Given the description of an element on the screen output the (x, y) to click on. 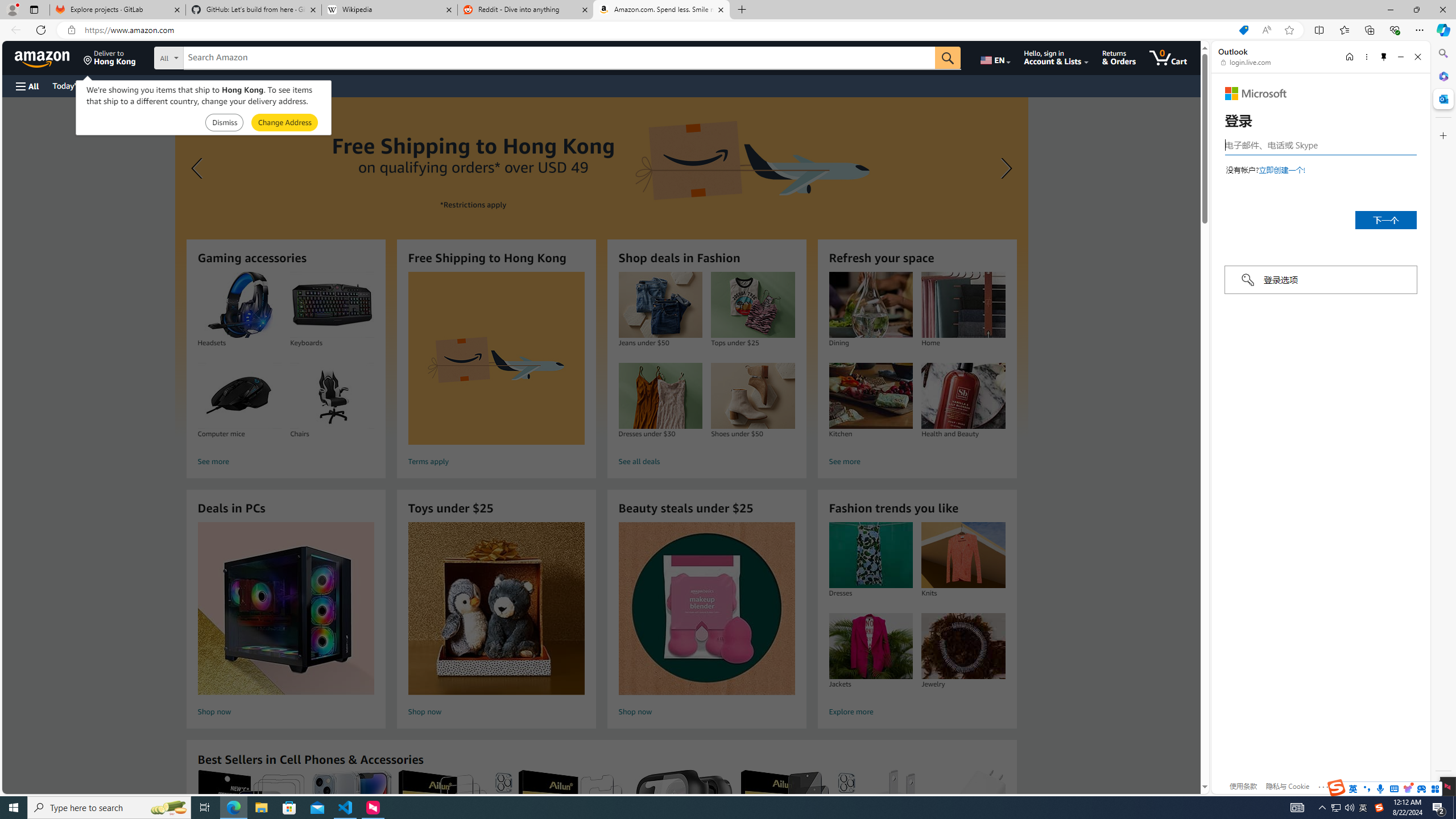
Class: a-carousel-card (600, 267)
Gift Cards (251, 85)
Skip to main content (48, 56)
Submit (284, 122)
Shoes under $50 (752, 395)
Jackets (870, 645)
Amazon.com. Spend less. Smile more. (660, 9)
